Given the description of an element on the screen output the (x, y) to click on. 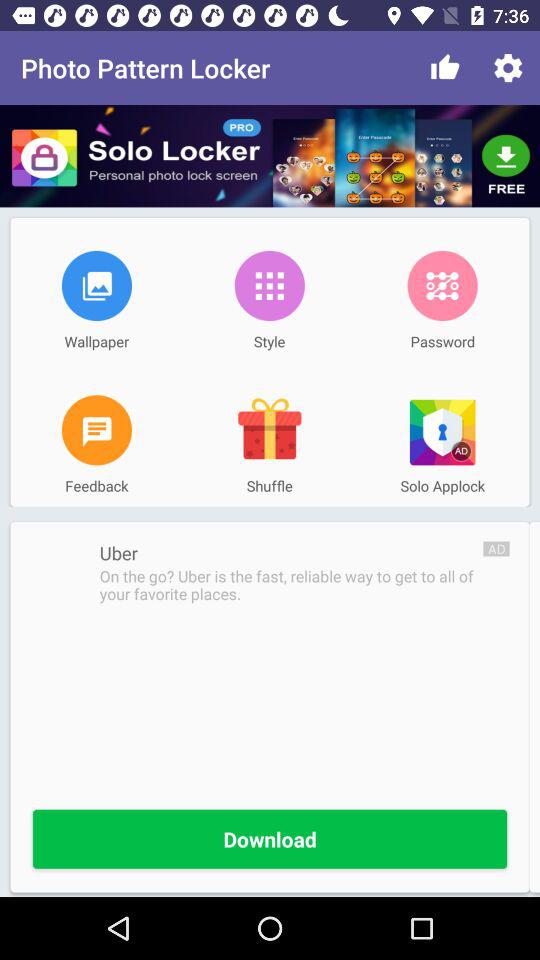
select icon below style (269, 430)
